Given the description of an element on the screen output the (x, y) to click on. 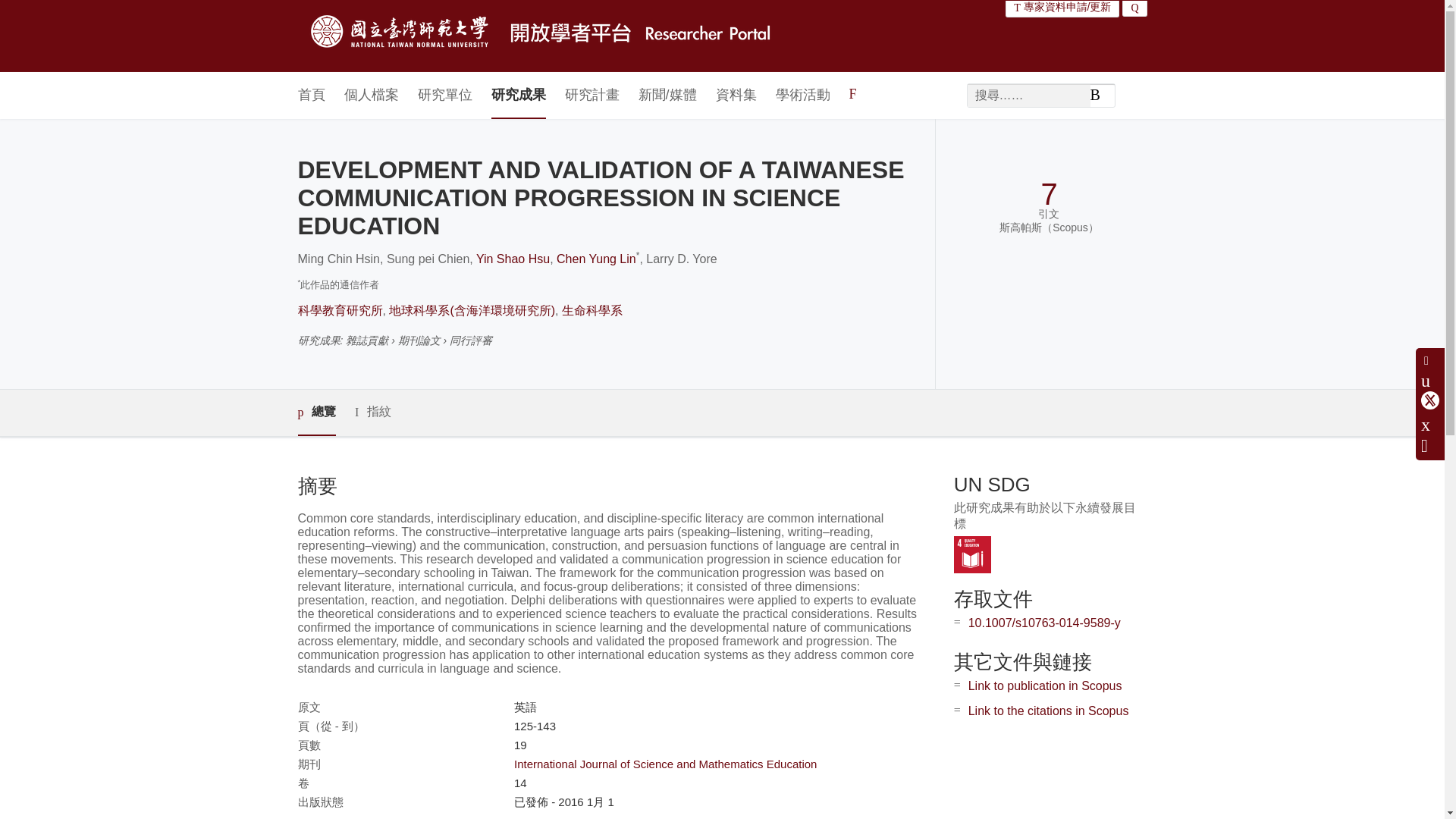
Link to the citations in Scopus (1048, 710)
Link to publication in Scopus (1045, 685)
Chen Yung Lin (596, 258)
Yin Shao Hsu (513, 258)
International Journal of Science and Mathematics Education (664, 763)
